Given the description of an element on the screen output the (x, y) to click on. 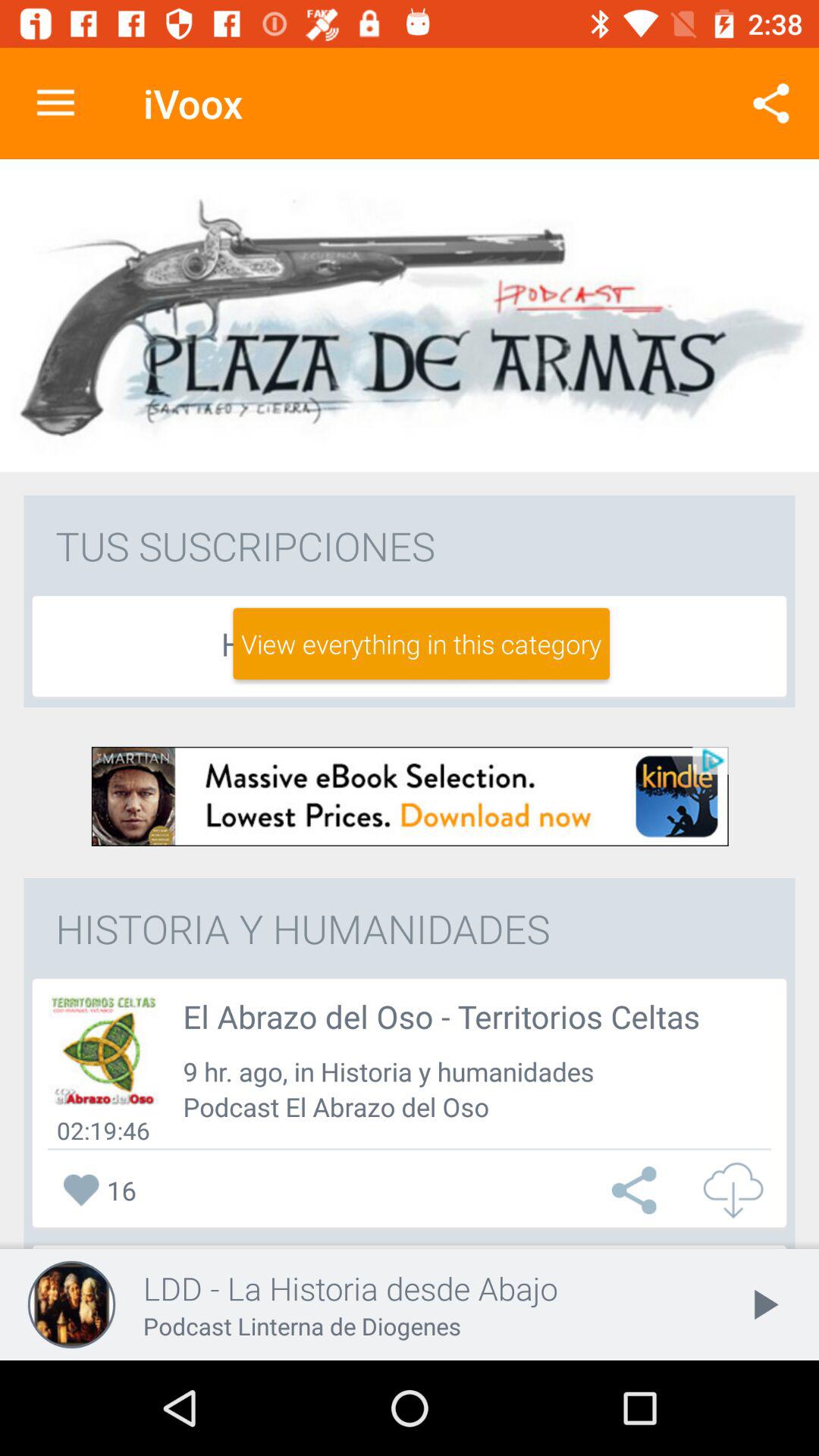
click to hear podcast (103, 1050)
